Given the description of an element on the screen output the (x, y) to click on. 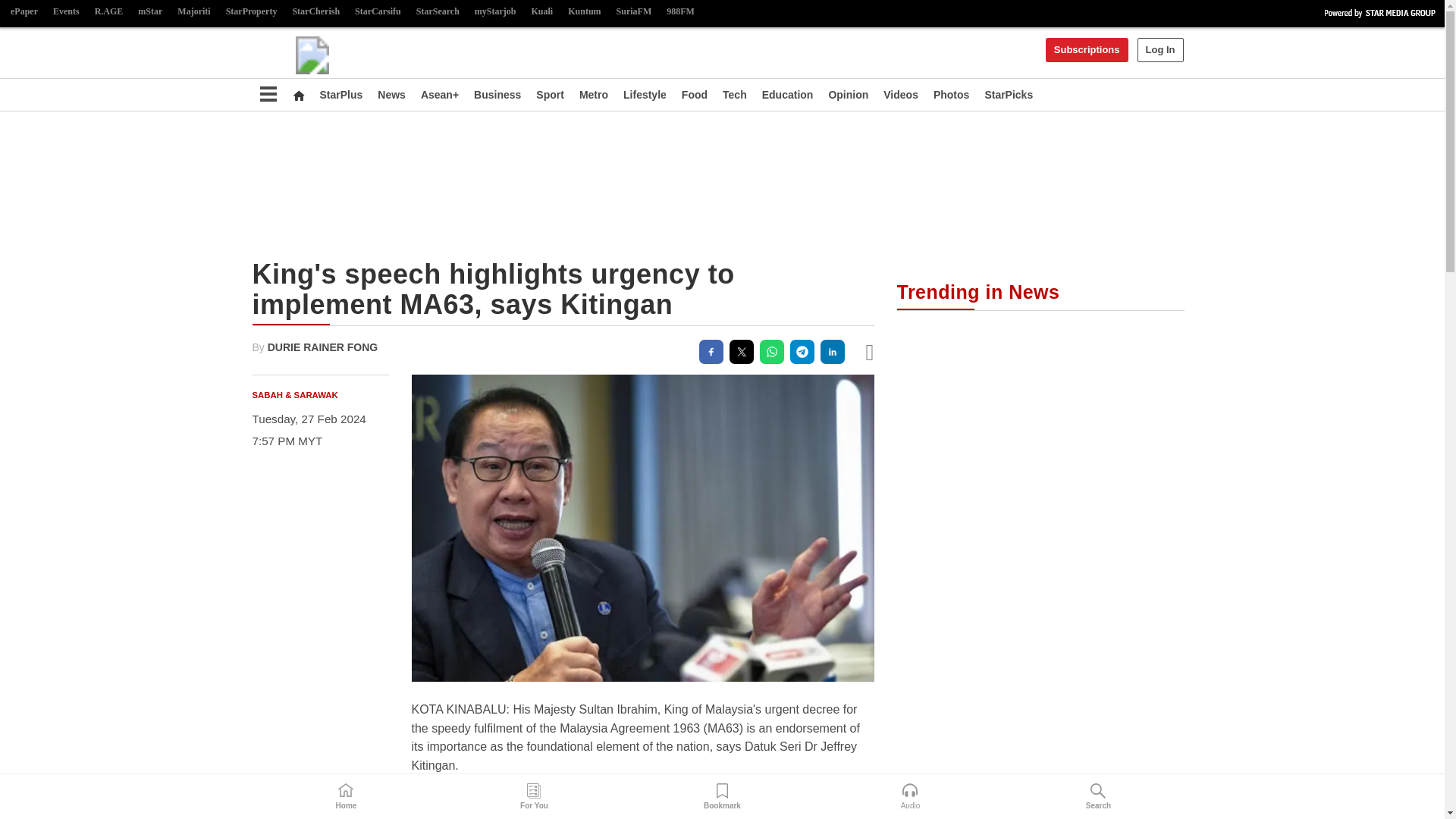
Kuali (542, 11)
StarCherish (315, 11)
Subscriptions (1086, 49)
Kuntum (584, 11)
988FM (680, 11)
Majoriti (193, 11)
mStar (150, 11)
Events (66, 11)
StarProperty (251, 11)
myStarjob (495, 11)
R.AGE (109, 11)
StarSearch (438, 11)
SuriaFM (633, 11)
ePaper (23, 11)
StarCarsifu (378, 11)
